Given the description of an element on the screen output the (x, y) to click on. 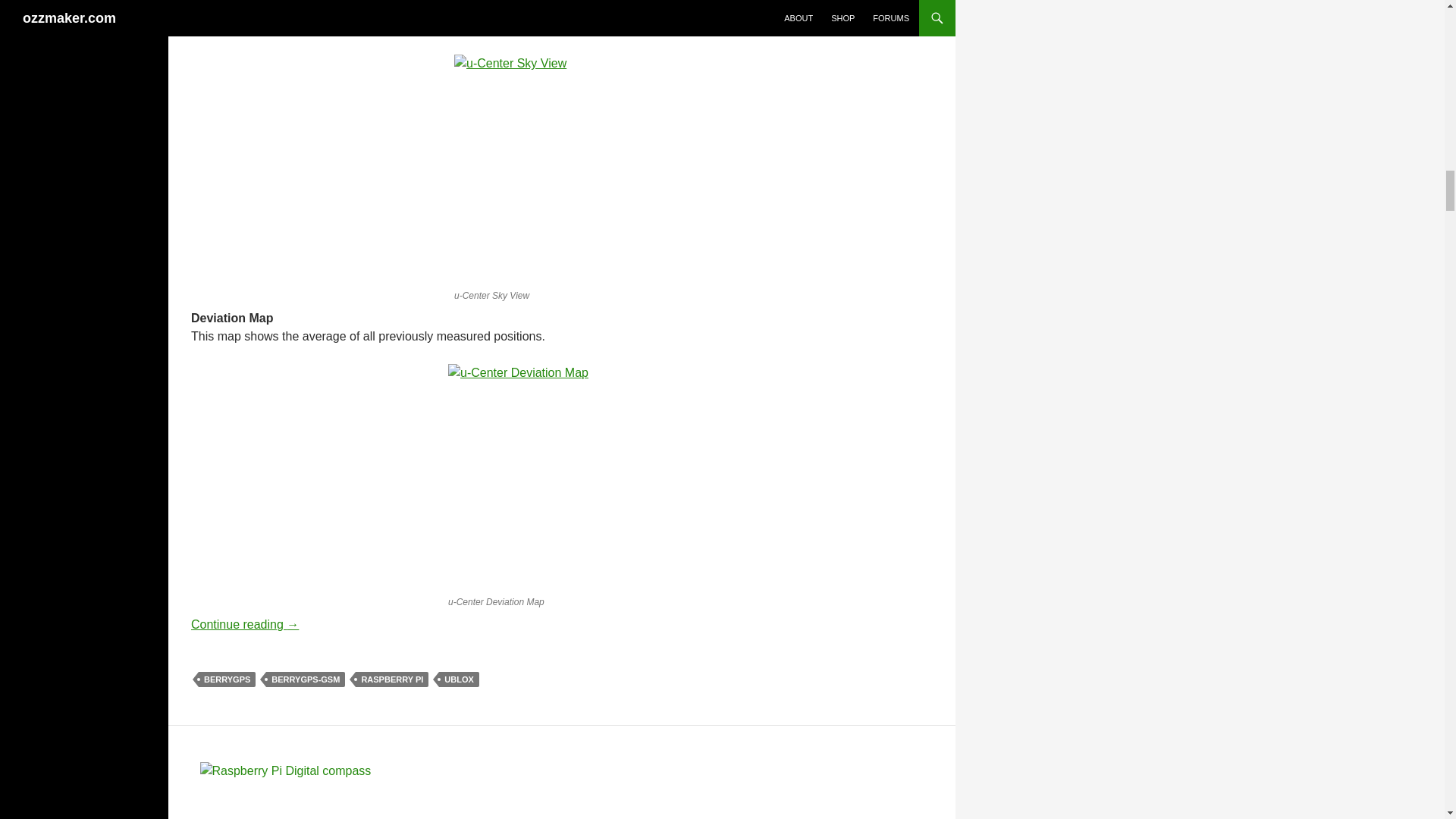
RASPBERRY PI (391, 679)
BERRYGPS (227, 679)
BERRYGPS-GSM (305, 679)
UBLOX (459, 679)
